Given the description of an element on the screen output the (x, y) to click on. 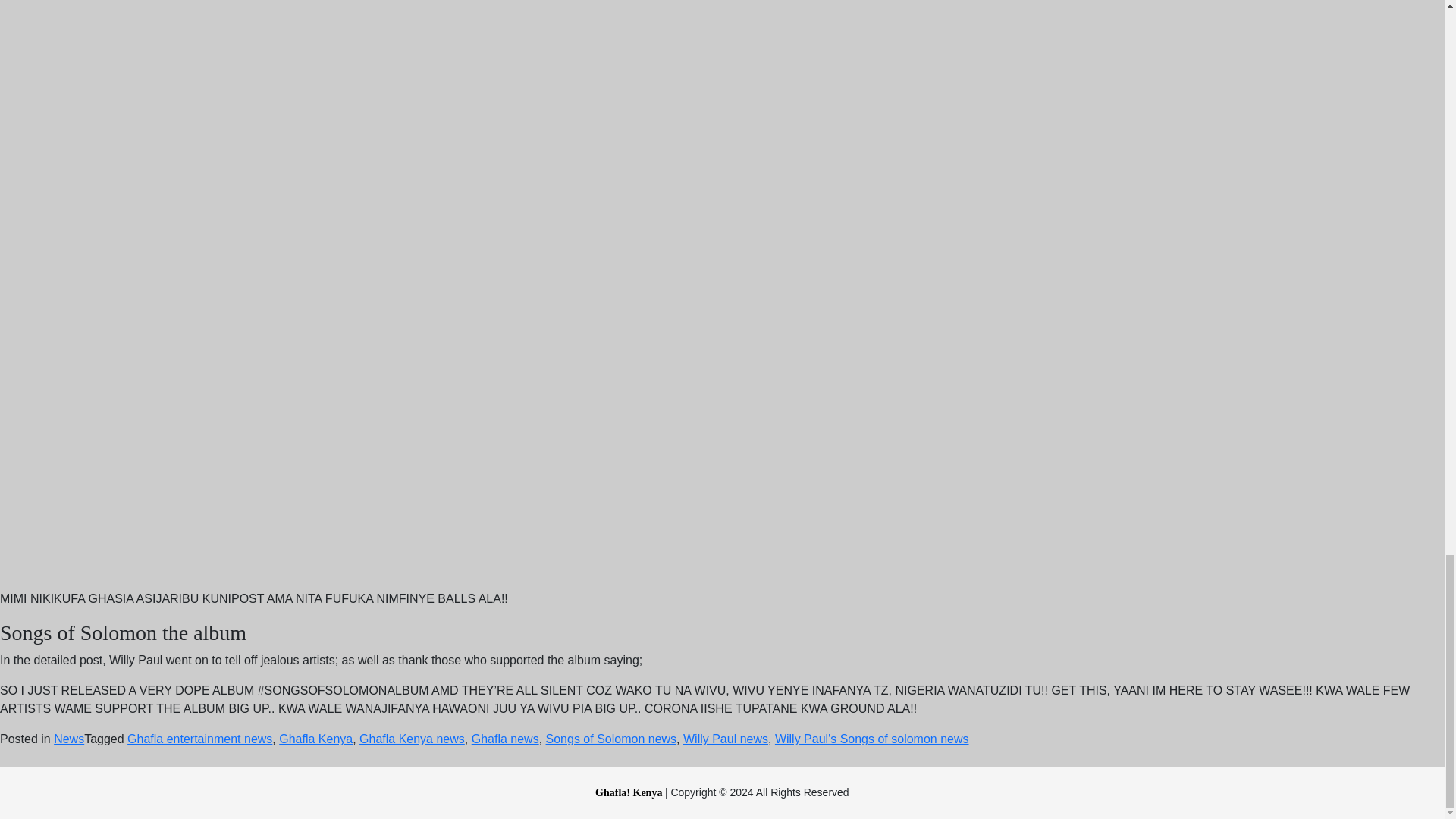
Ghafla Kenya news (411, 738)
Ghafla news (504, 738)
Ghafla Kenya (315, 738)
Ghafla! Kenya (630, 792)
Ghafla entertainment news (200, 738)
Songs of Solomon news (611, 738)
Willy Paul news (725, 738)
News (68, 738)
Willy Paul's Songs of solomon news (871, 738)
